Given the description of an element on the screen output the (x, y) to click on. 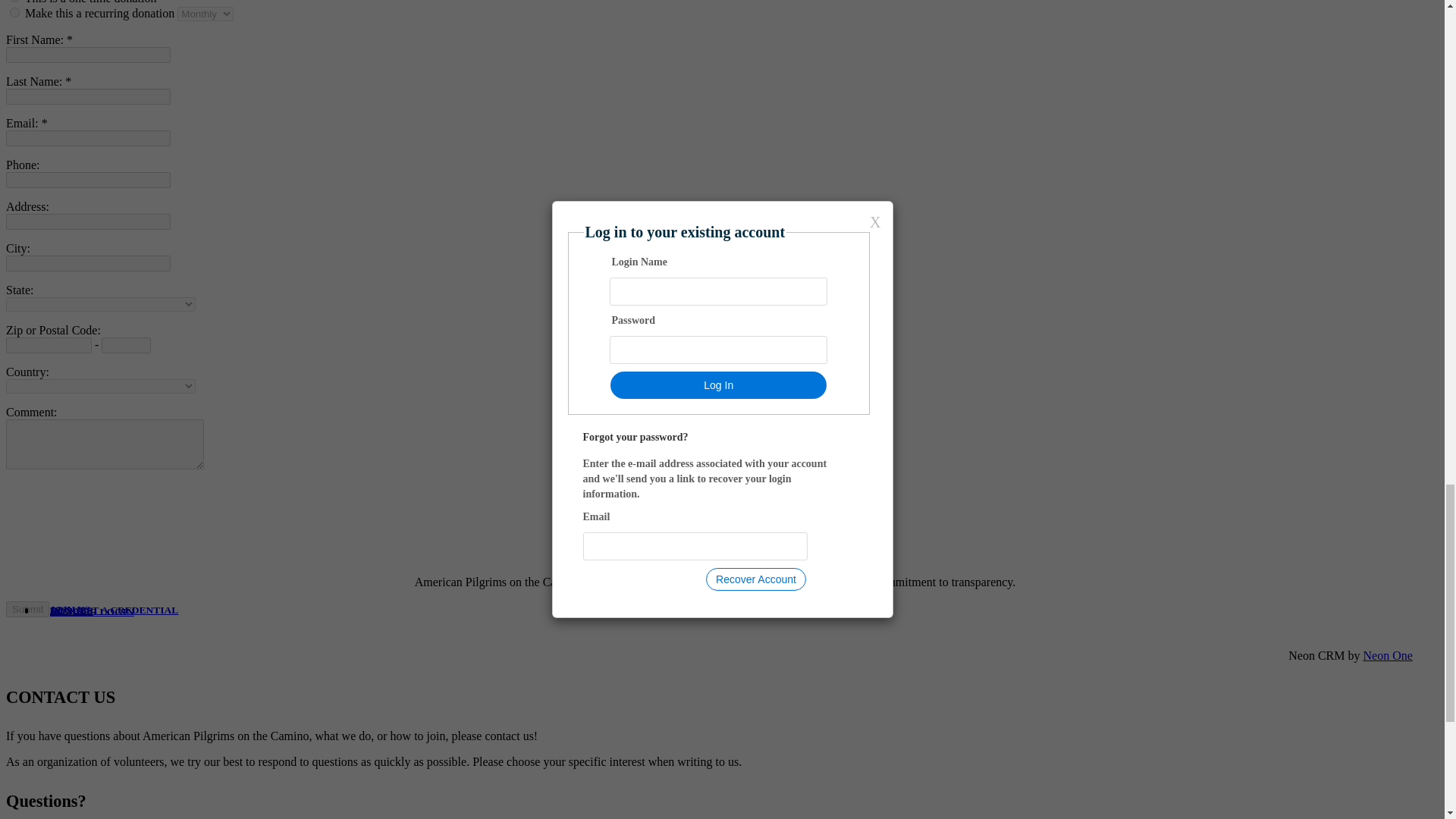
1 (15, 12)
